Given the description of an element on the screen output the (x, y) to click on. 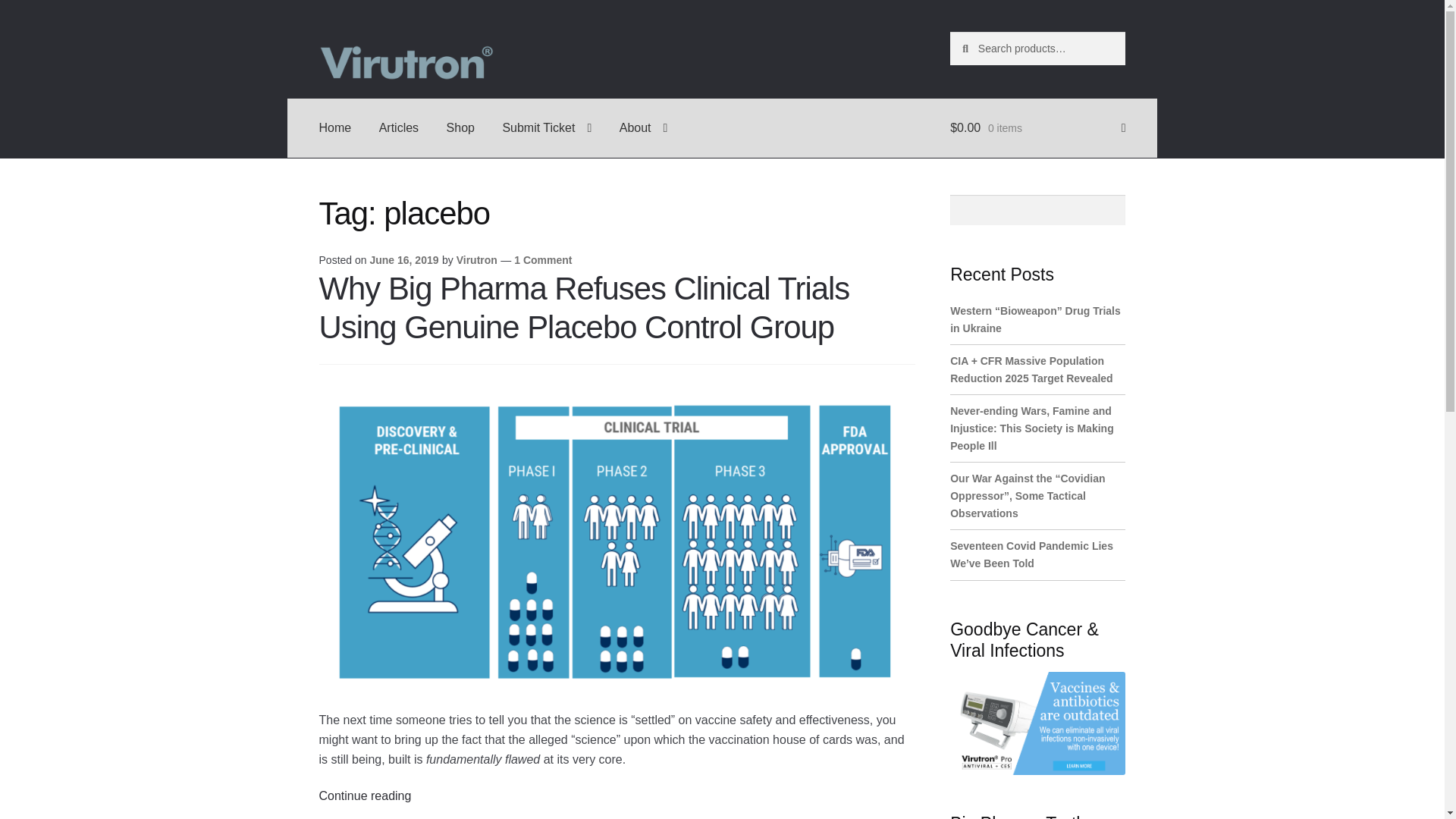
1 Comment (542, 259)
Home (335, 128)
Virutron (477, 259)
View your shopping cart (1037, 128)
Submit Ticket (546, 128)
June 16, 2019 (403, 259)
About (643, 128)
Articles (398, 128)
